Given the description of an element on the screen output the (x, y) to click on. 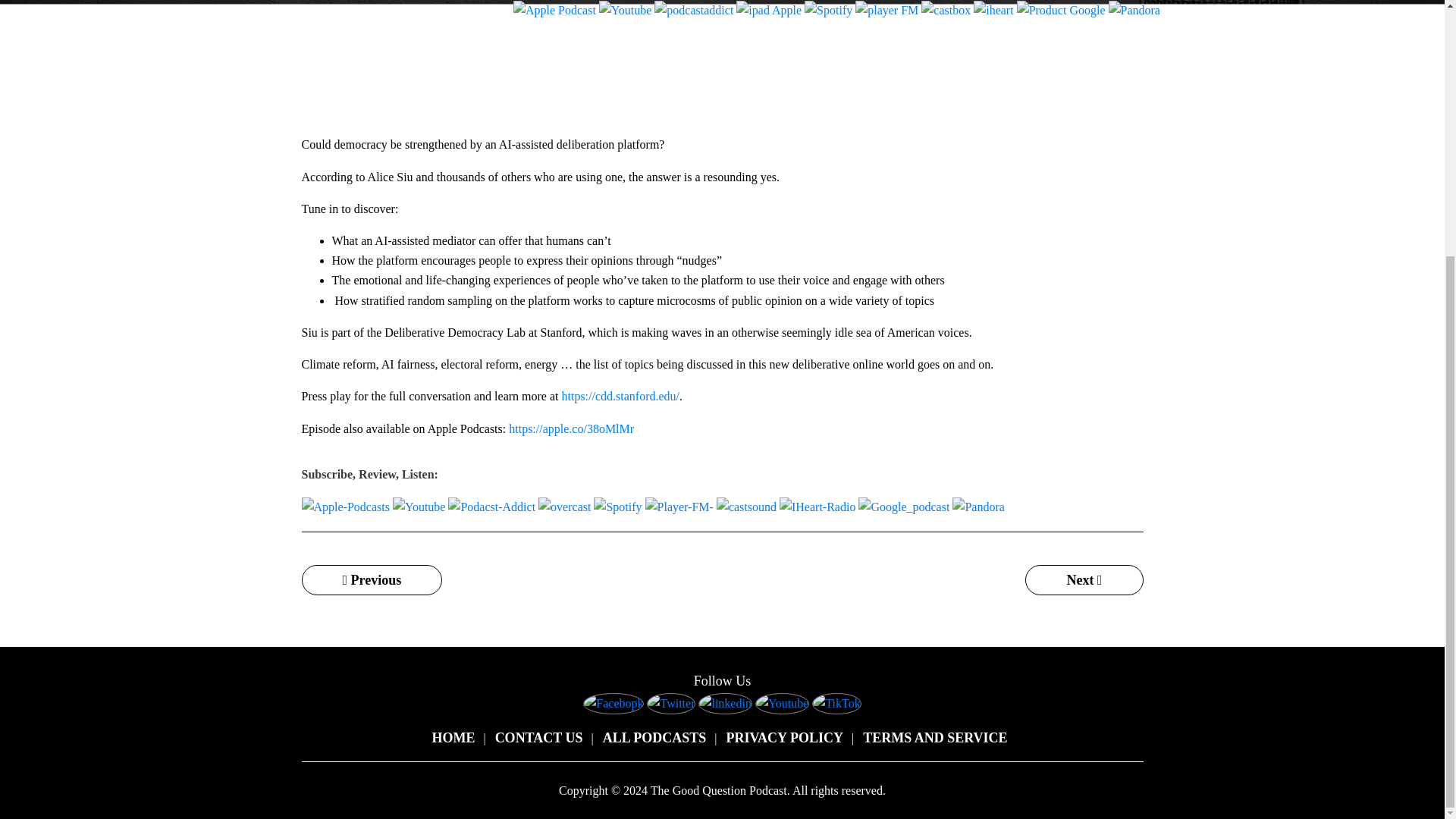
iHeartRadio (993, 10)
Overcast (769, 10)
Player FM (887, 10)
Google Podcast (1060, 10)
Podcast Addict (693, 10)
Youtube (625, 10)
Castbox (946, 10)
Pandora (1134, 10)
Apple Podcast (554, 10)
Spotify (828, 10)
